Given the description of an element on the screen output the (x, y) to click on. 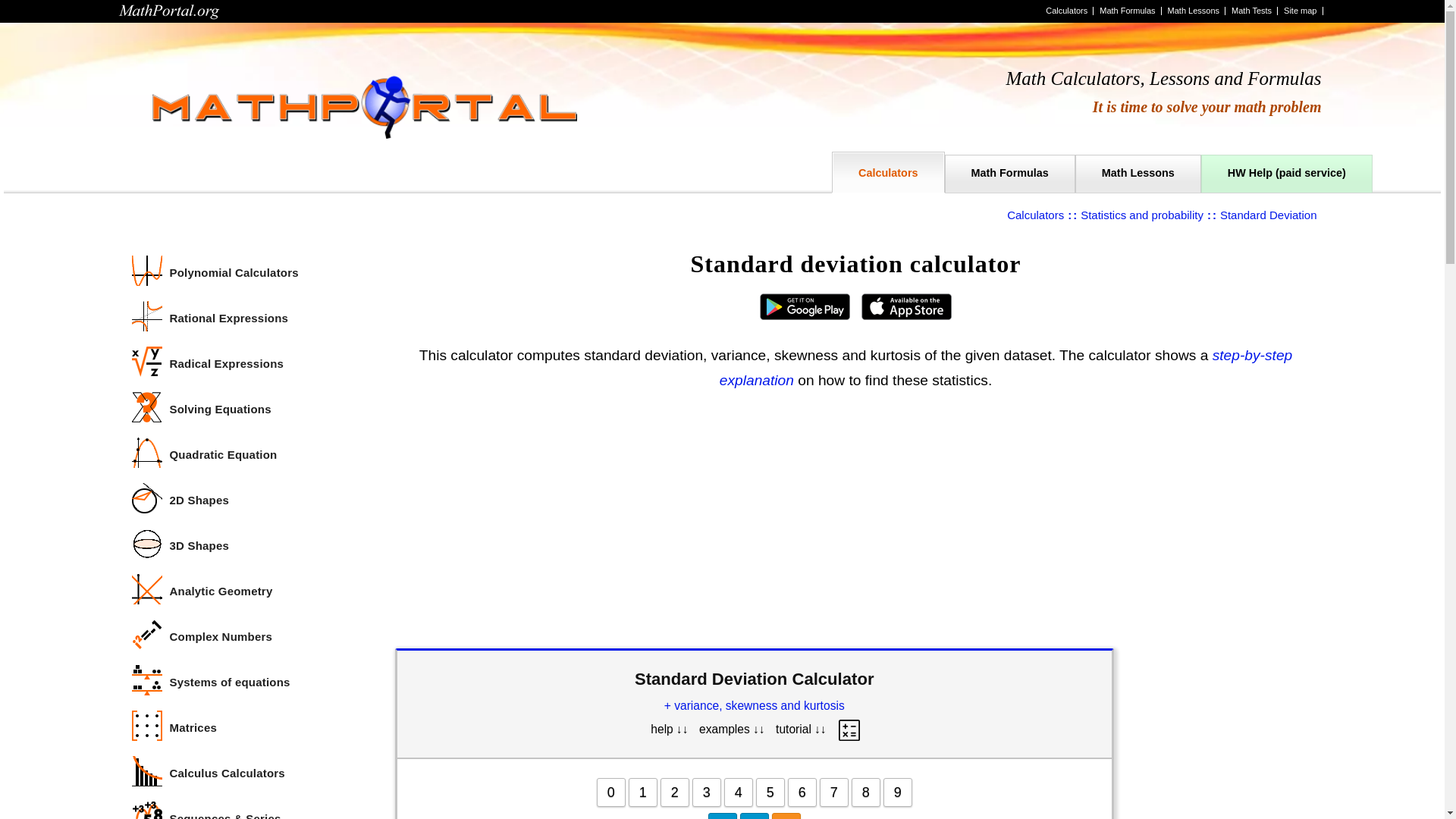
Calculators (1066, 10)
Calculators (887, 172)
Math Lessons (1138, 171)
Calculators (1035, 214)
Math Formulas (1126, 10)
Advertisement (854, 521)
Site map (1300, 10)
Statistics and probability (1142, 214)
Math Lessons (1193, 10)
Math Formulas (1009, 171)
